Given the description of an element on the screen output the (x, y) to click on. 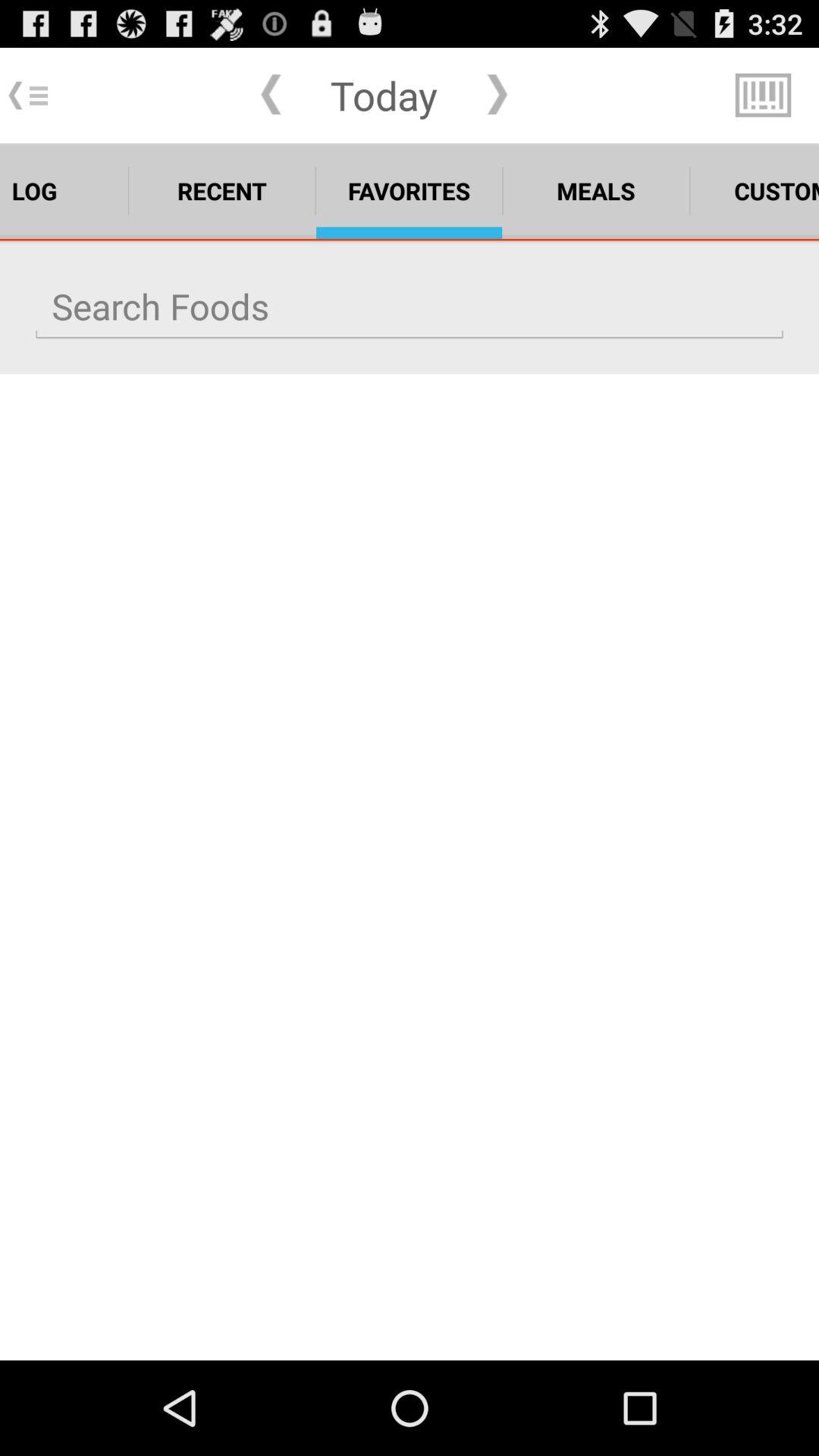
open the app above the favorites icon (383, 94)
